Given the description of an element on the screen output the (x, y) to click on. 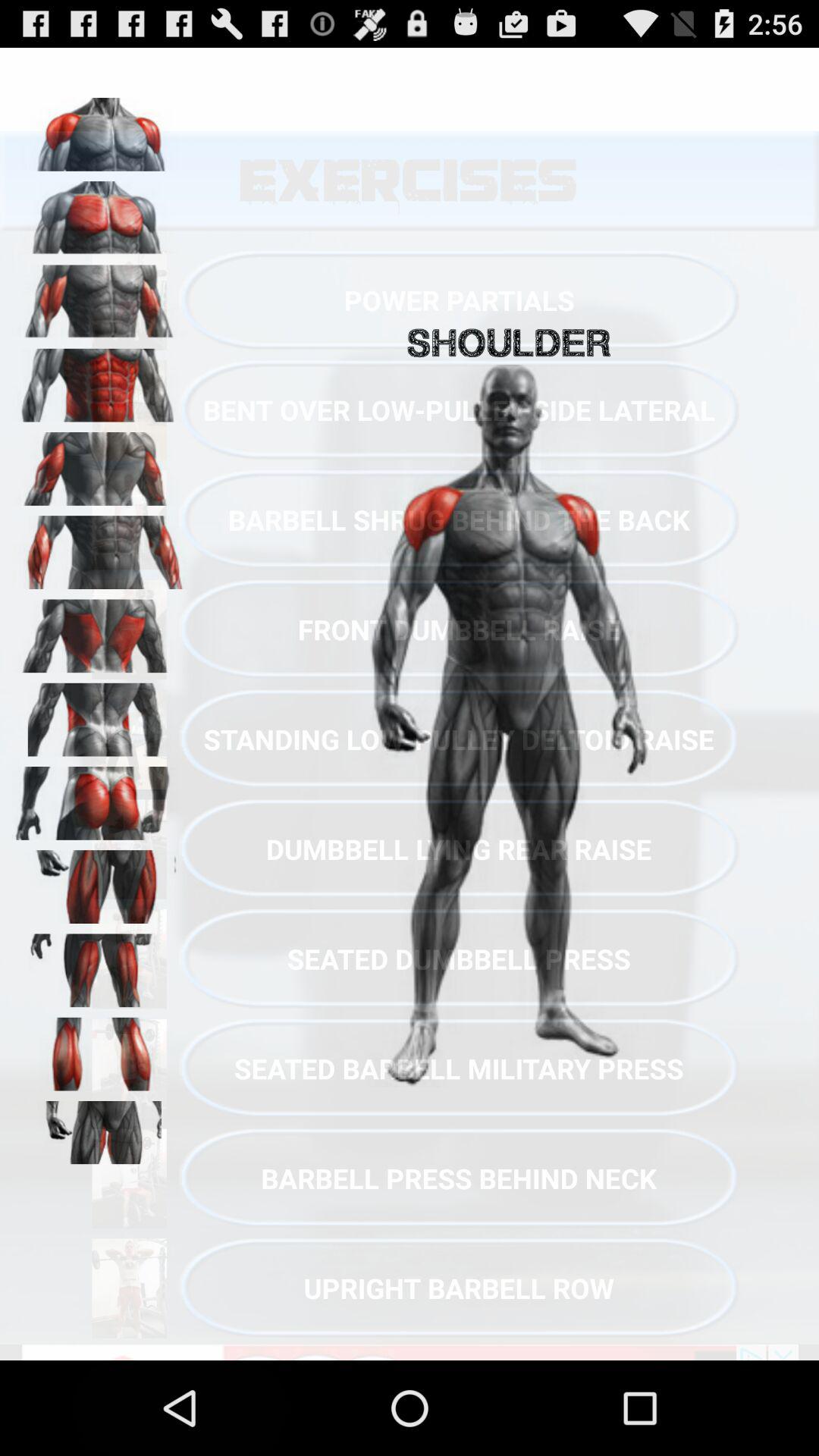
tricpes (99, 296)
